Given the description of an element on the screen output the (x, y) to click on. 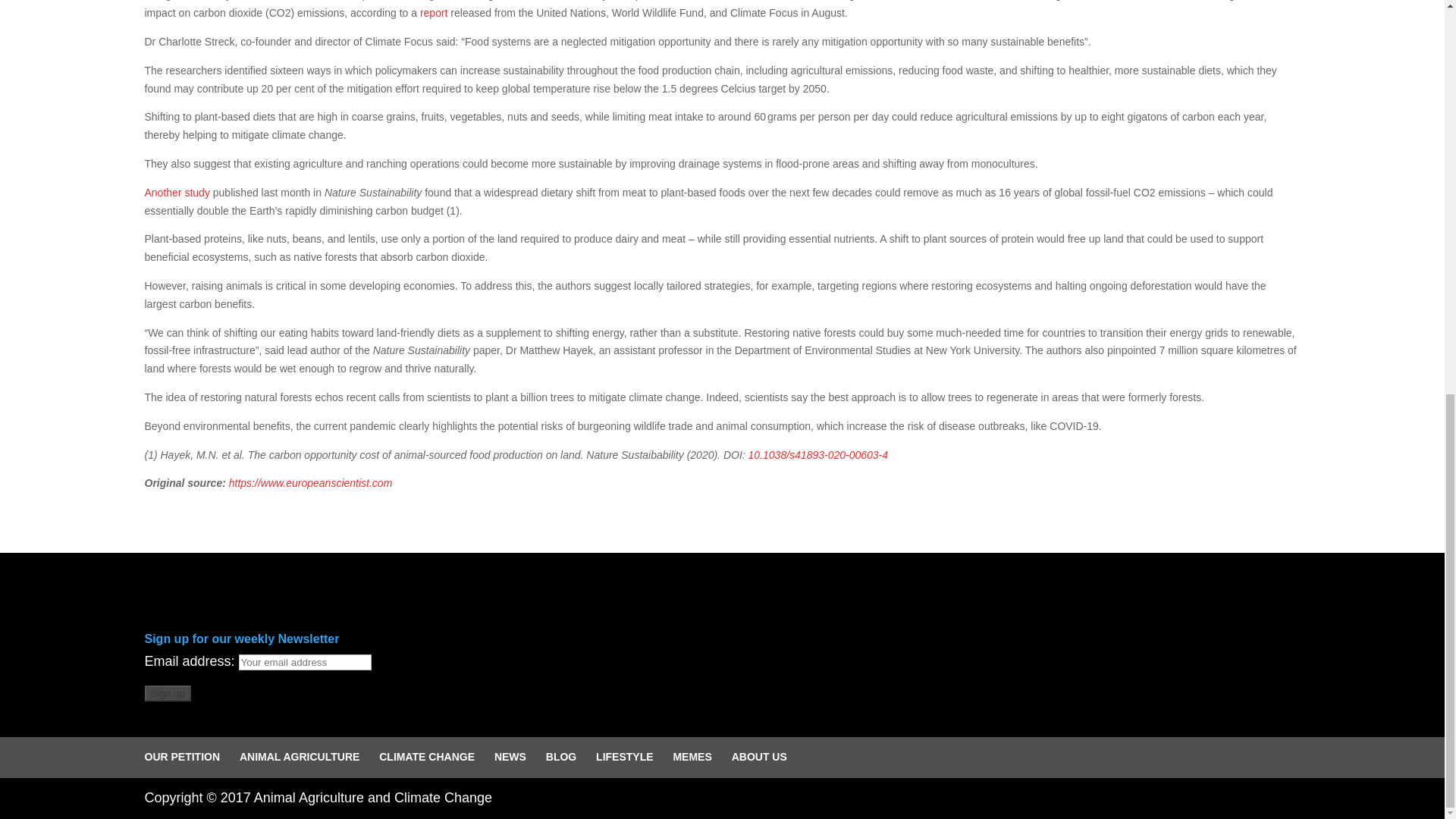
report (434, 12)
ANIMAL AGRICULTURE (299, 756)
Another study (176, 192)
BLOG (561, 756)
CLIMATE CHANGE (426, 756)
Sign up (167, 693)
Sign up (167, 693)
OUR PETITION (181, 756)
NEWS (510, 756)
LIFESTYLE (623, 756)
